Given the description of an element on the screen output the (x, y) to click on. 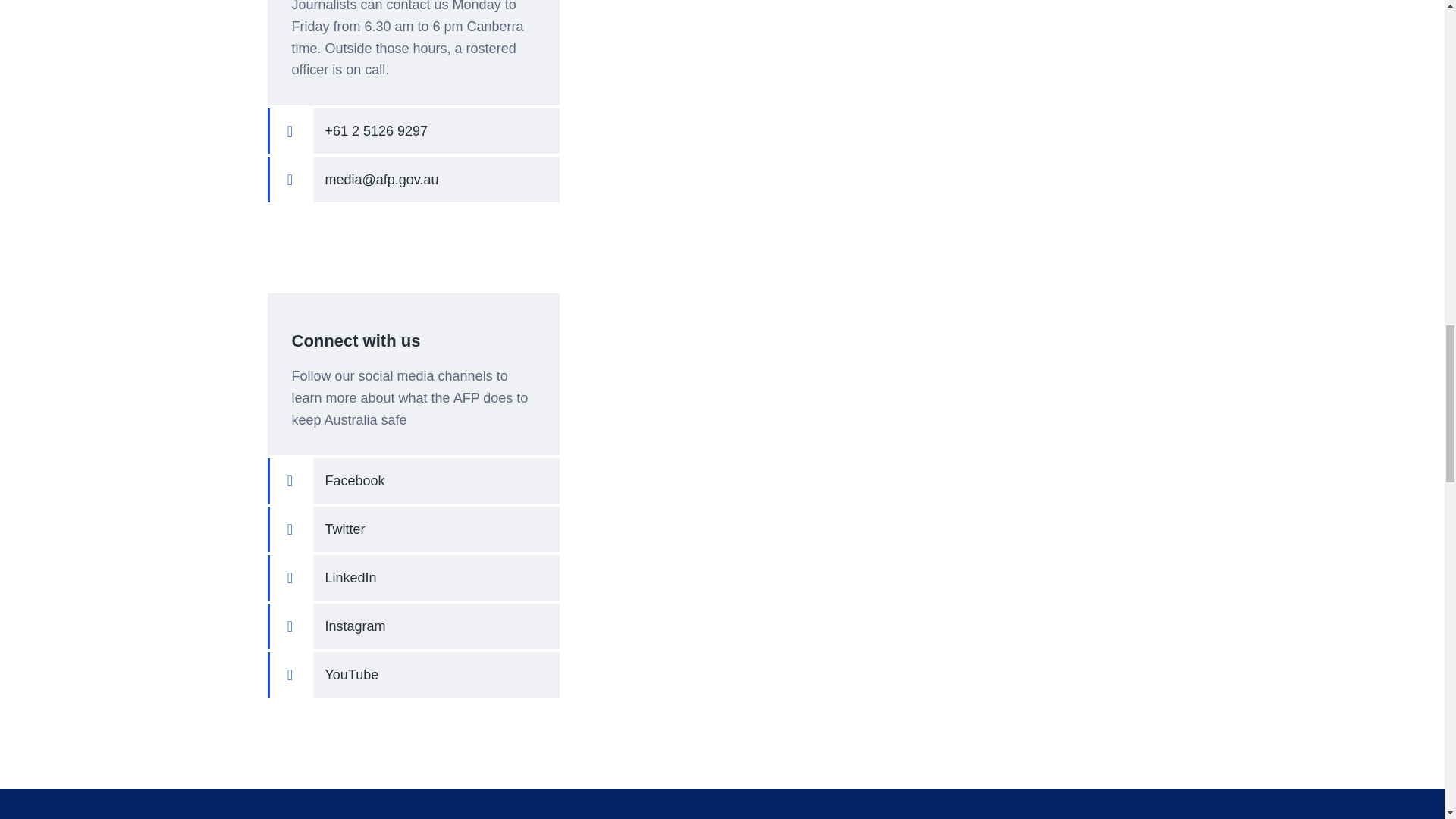
Instagram (412, 626)
LinkedIn (412, 577)
Facebook (412, 480)
YouTube (412, 674)
Twitter (412, 529)
